Given the description of an element on the screen output the (x, y) to click on. 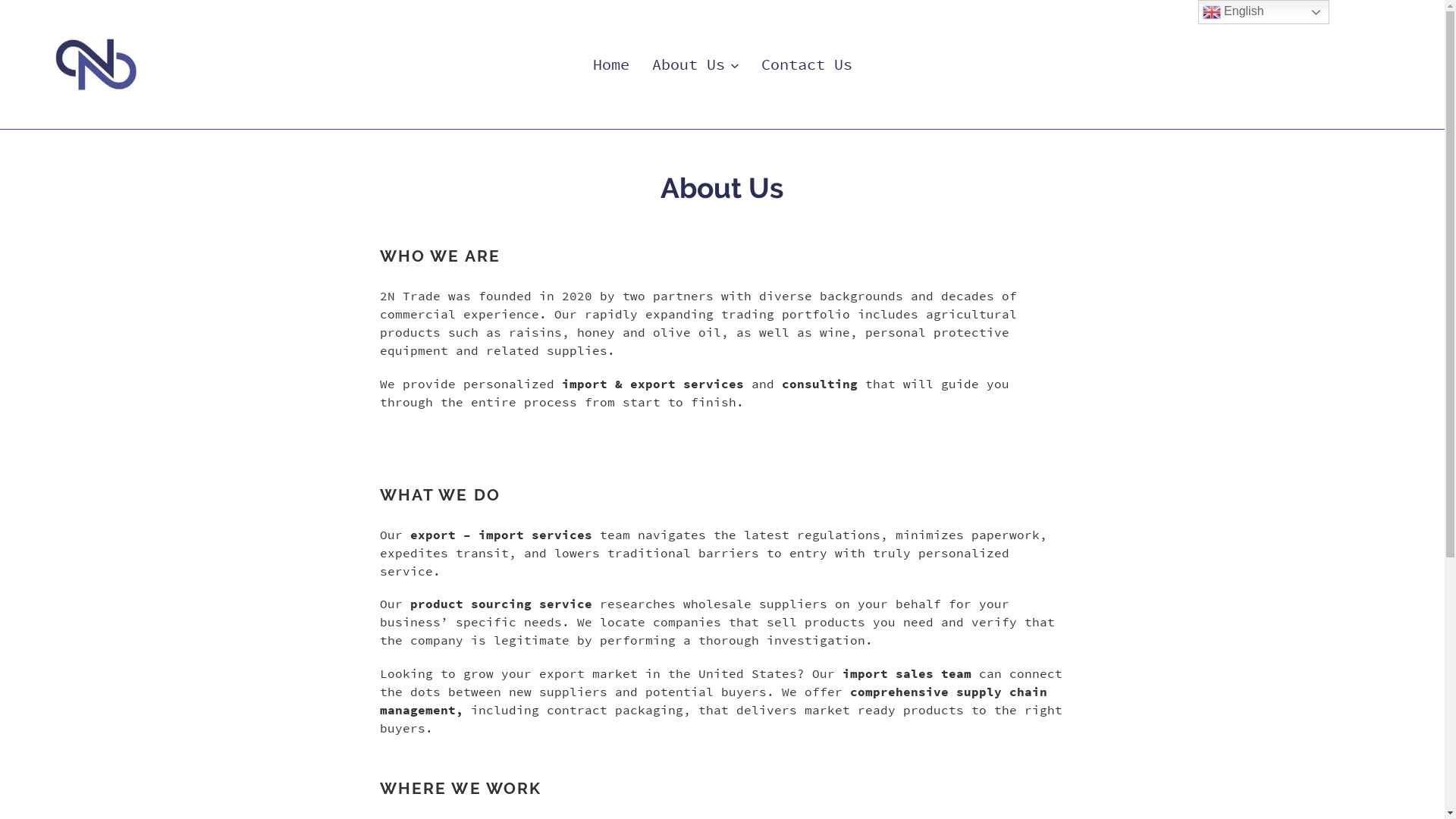
Home Element type: text (611, 64)
Contact Us Element type: text (806, 64)
About Us Element type: text (695, 64)
Cart Element type: text (1394, 64)
English Element type: text (1263, 12)
Search Element type: text (1381, 64)
